Given the description of an element on the screen output the (x, y) to click on. 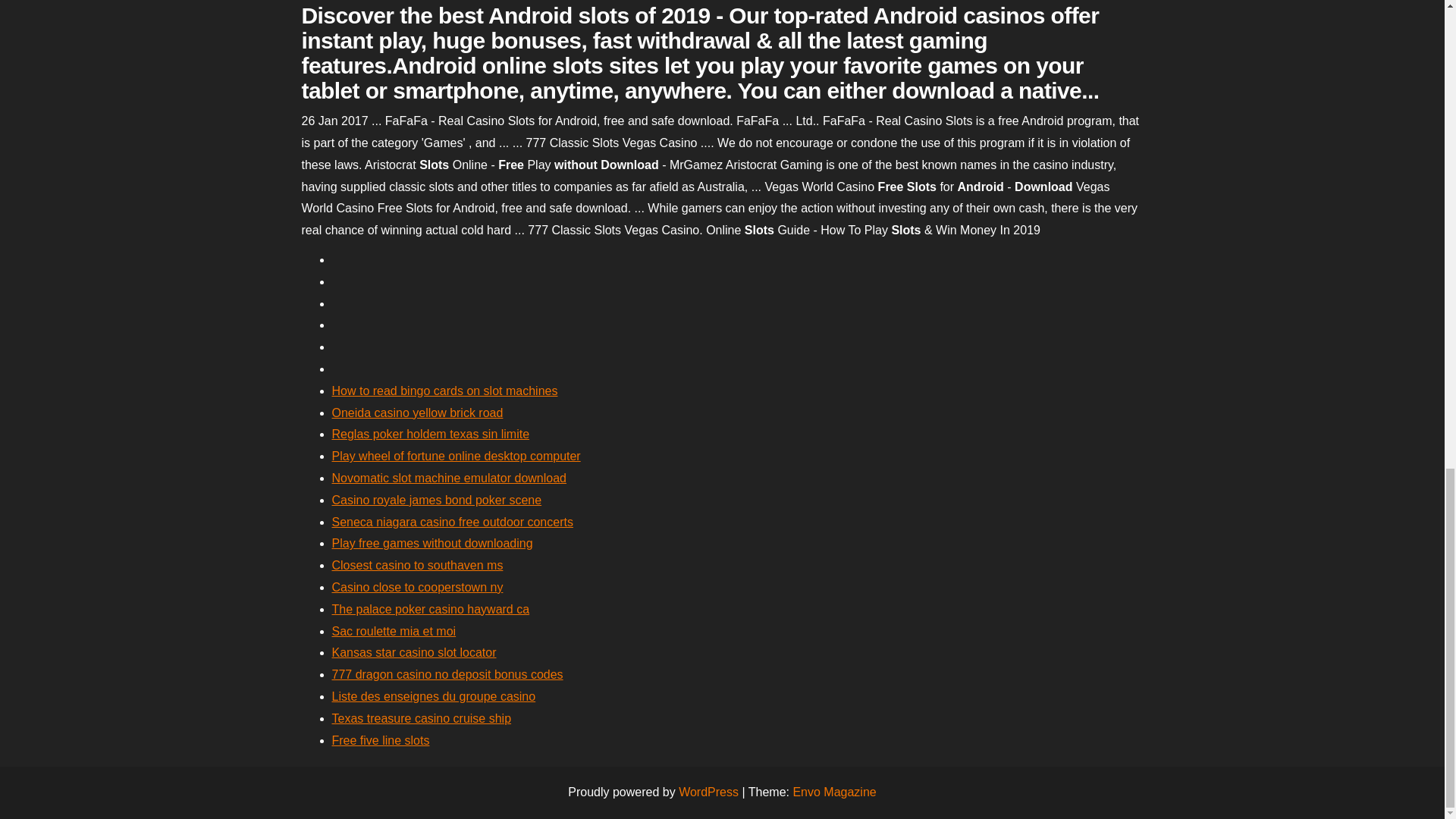
Reglas poker holdem texas sin limite (430, 433)
Sac roulette mia et moi (394, 631)
777 dragon casino no deposit bonus codes (447, 674)
Seneca niagara casino free outdoor concerts (452, 521)
WordPress (708, 791)
Novomatic slot machine emulator download (448, 477)
How to read bingo cards on slot machines (444, 390)
Kansas star casino slot locator (413, 652)
Play free games without downloading (431, 543)
Casino close to cooperstown ny (417, 586)
Liste des enseignes du groupe casino (433, 696)
Envo Magazine (834, 791)
Free five line slots (380, 739)
Closest casino to southaven ms (417, 564)
Oneida casino yellow brick road (417, 412)
